Given the description of an element on the screen output the (x, y) to click on. 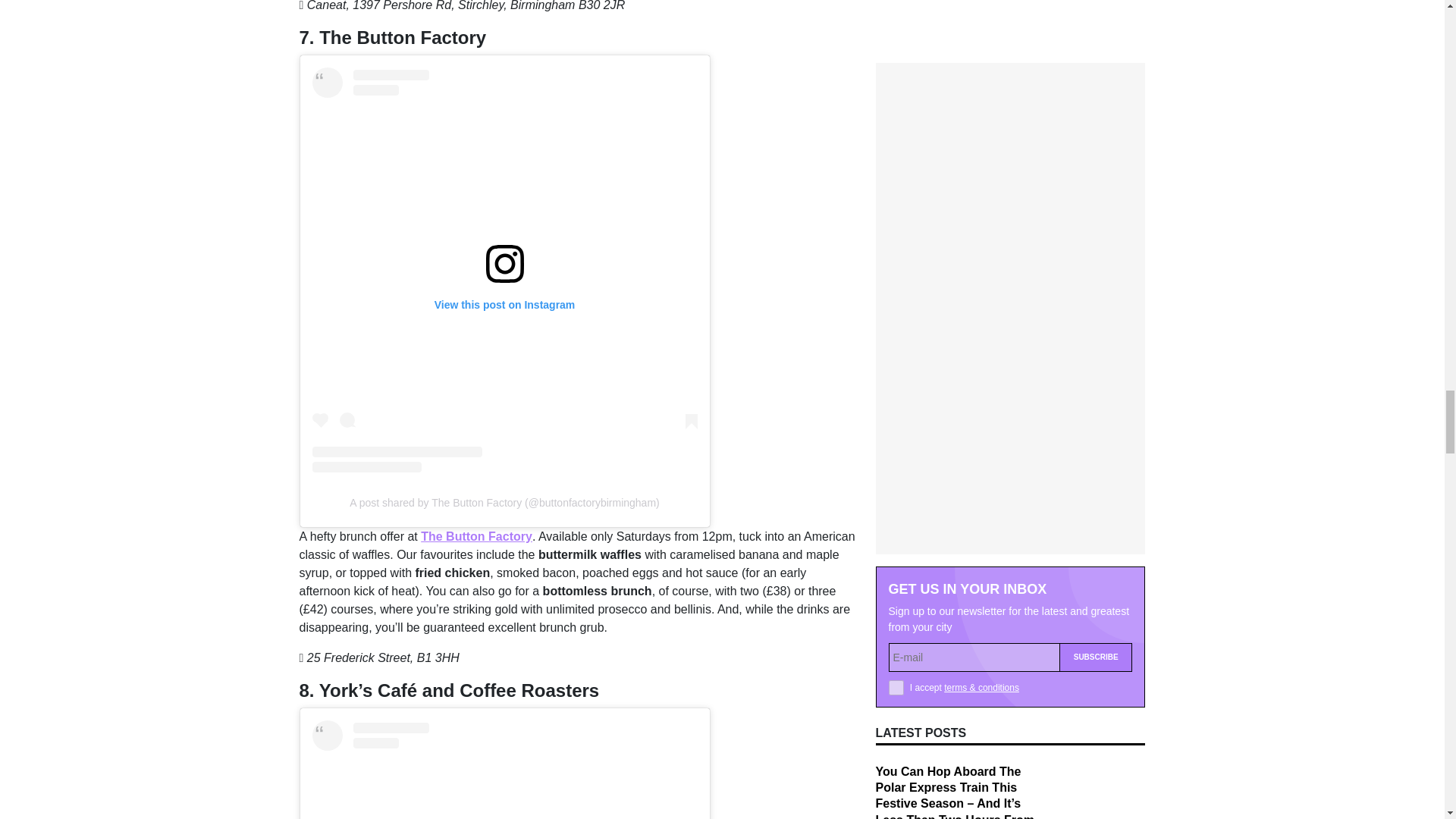
The Button Factory (476, 535)
View this post on Instagram (505, 769)
